Given the description of an element on the screen output the (x, y) to click on. 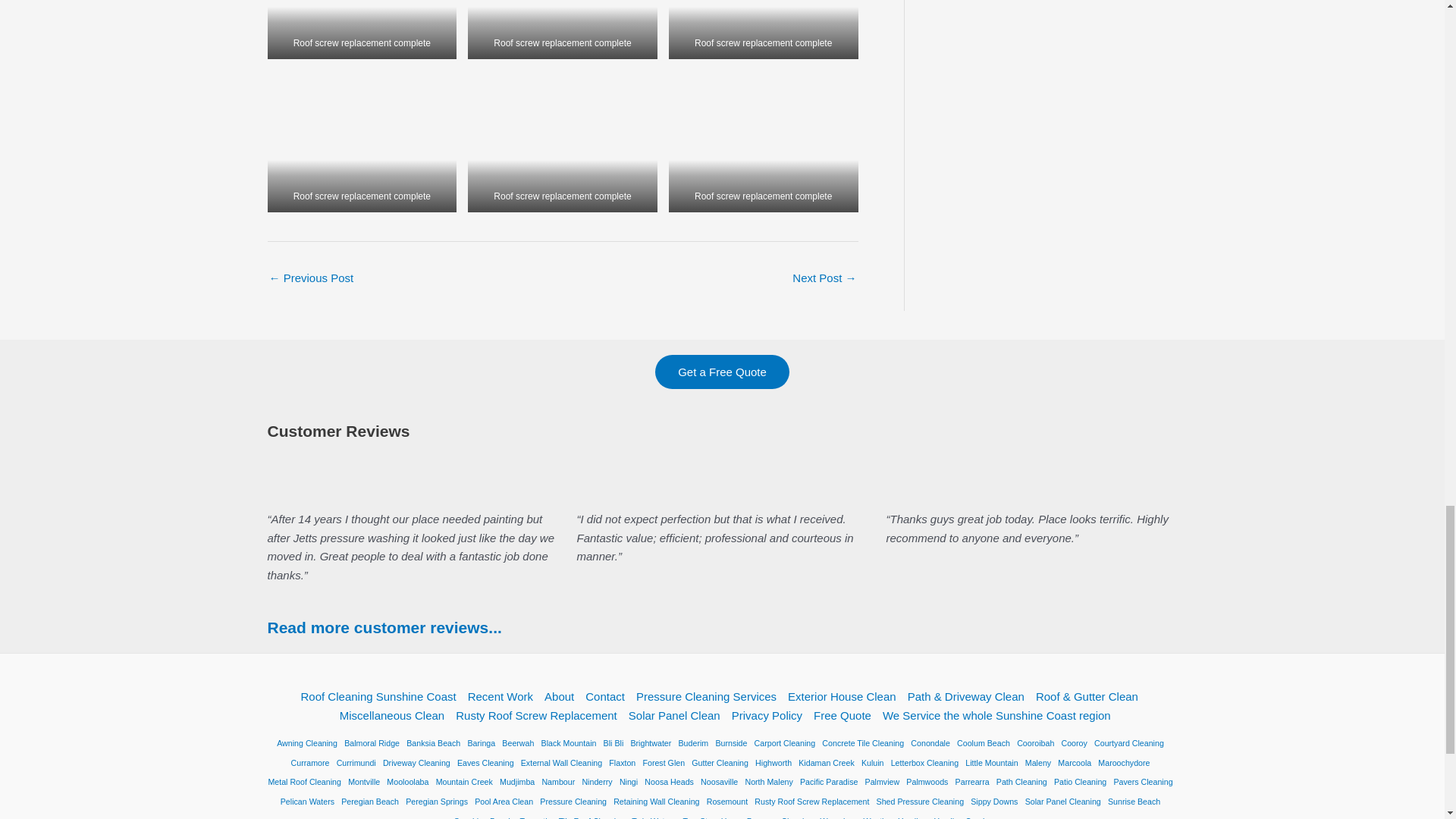
Roof Clean Little Mountain (310, 279)
Tile Roof Clean Noosaville (824, 279)
